Given the description of an element on the screen output the (x, y) to click on. 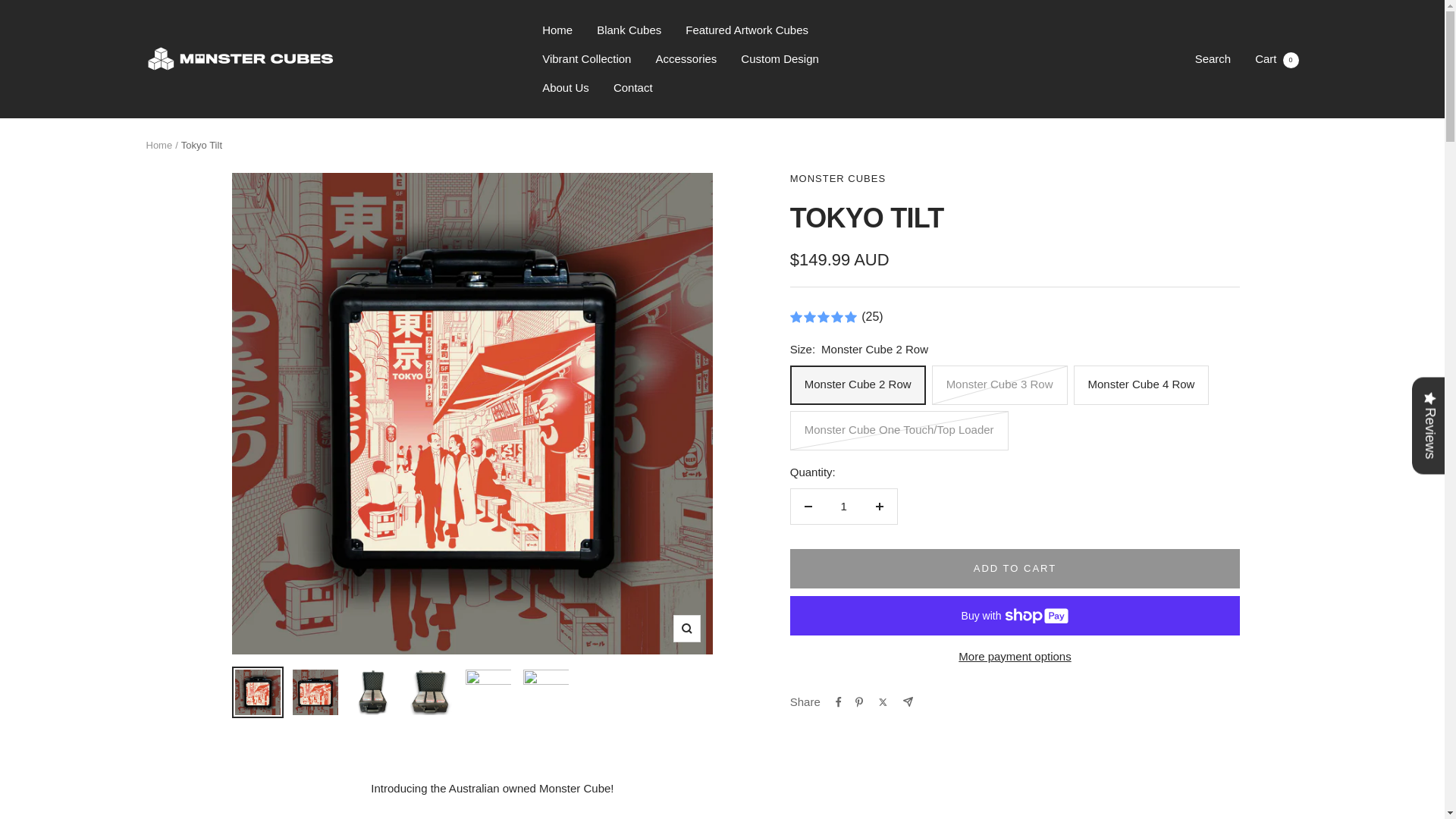
Contact (632, 87)
Home (158, 144)
Blank Cubes (628, 30)
About Us (565, 87)
Custom Design (1276, 58)
Search (779, 58)
Accessories (1213, 58)
Zoom (685, 58)
1 (686, 628)
Home (843, 506)
Monster Cube 2 Row (556, 30)
